Given the description of an element on the screen output the (x, y) to click on. 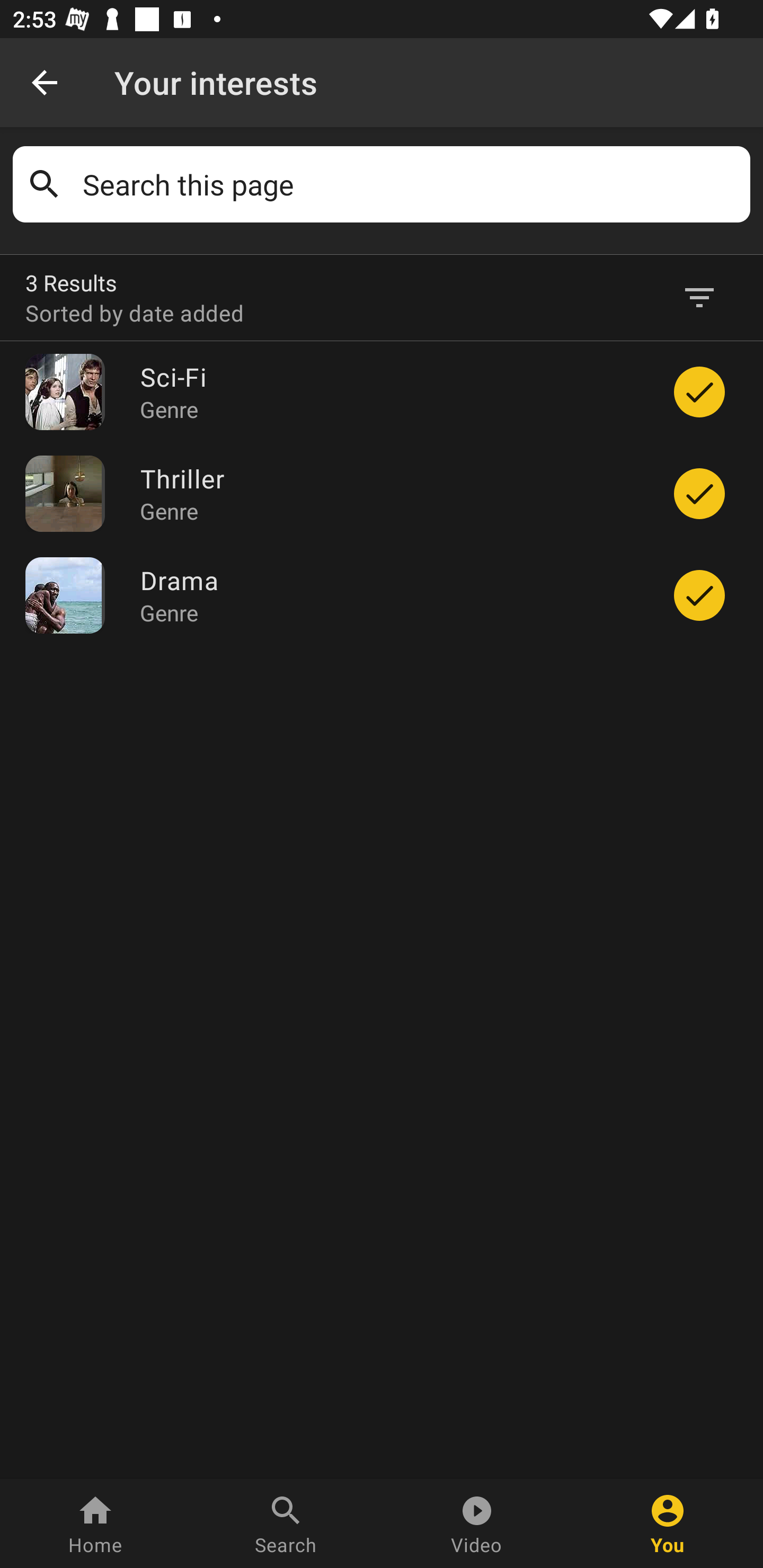
Search this page (410, 184)
Sci-Fi Genre (390, 391)
Thriller Genre (390, 492)
Drama Genre (390, 594)
Home (95, 1523)
Search (285, 1523)
Video (476, 1523)
